Given the description of an element on the screen output the (x, y) to click on. 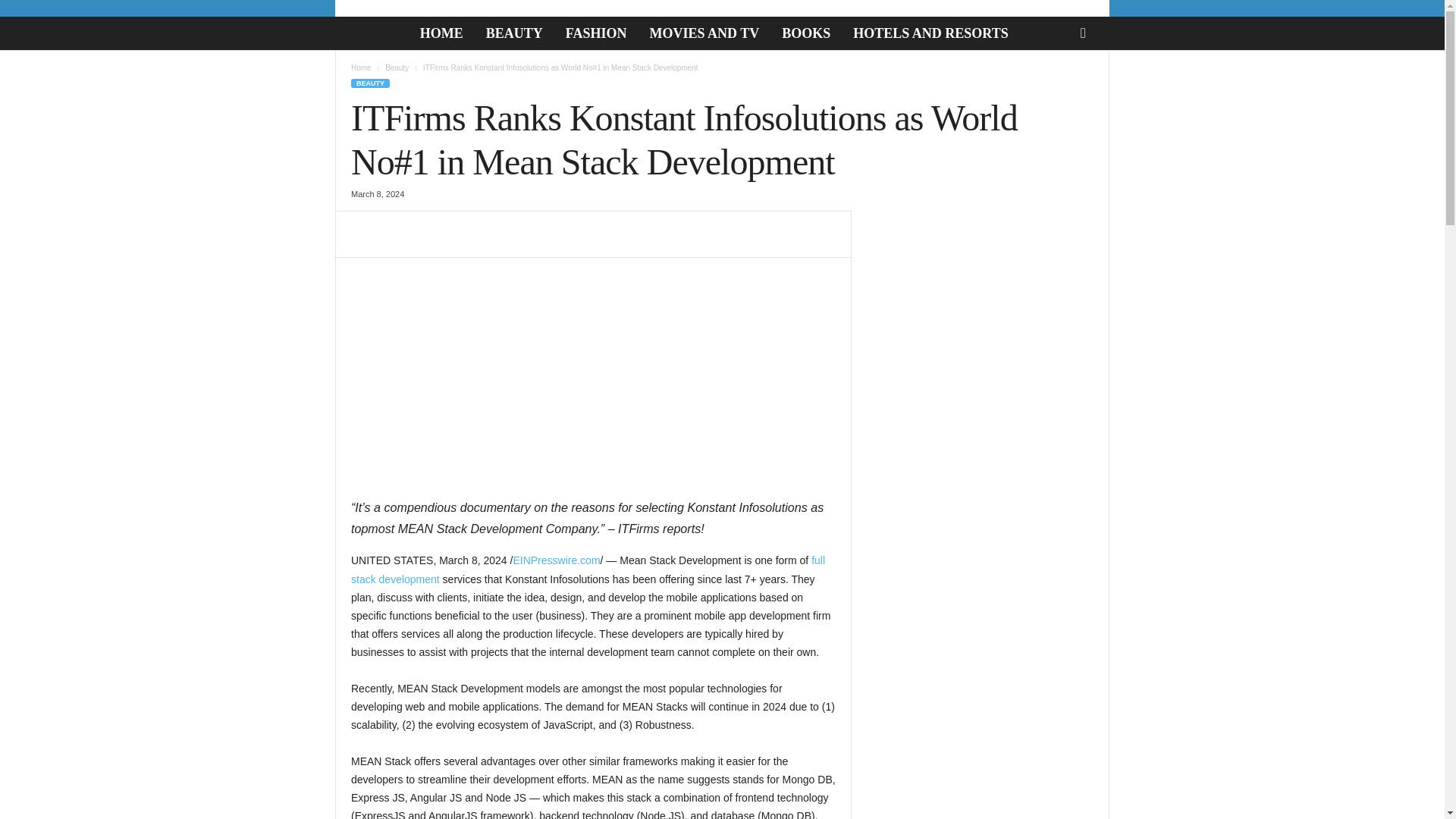
Home (360, 67)
full stack development (587, 569)
HOME (441, 32)
Beauty (397, 67)
BOOKS (805, 32)
MOVIES AND TV (703, 32)
View all posts in Beauty (397, 67)
BEAUTY (514, 32)
FASHION (596, 32)
EINPresswire.com (555, 560)
HOTELS AND RESORTS (930, 32)
Beauty Ring (371, 33)
BEAUTY (370, 82)
Beauty Ring magazine (363, 32)
